Given the description of an element on the screen output the (x, y) to click on. 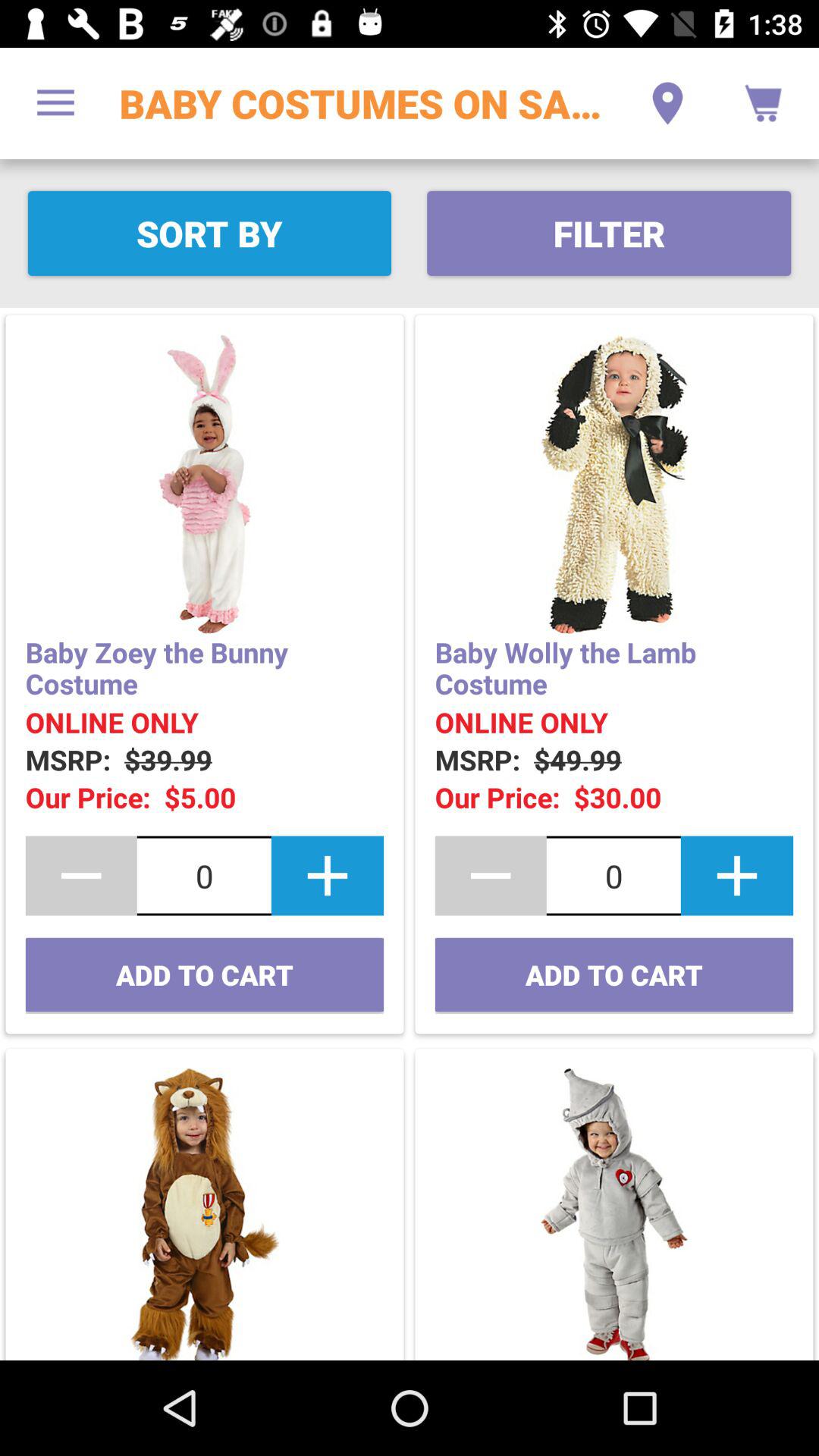
select the item to the left of the filter (209, 233)
